Given the description of an element on the screen output the (x, y) to click on. 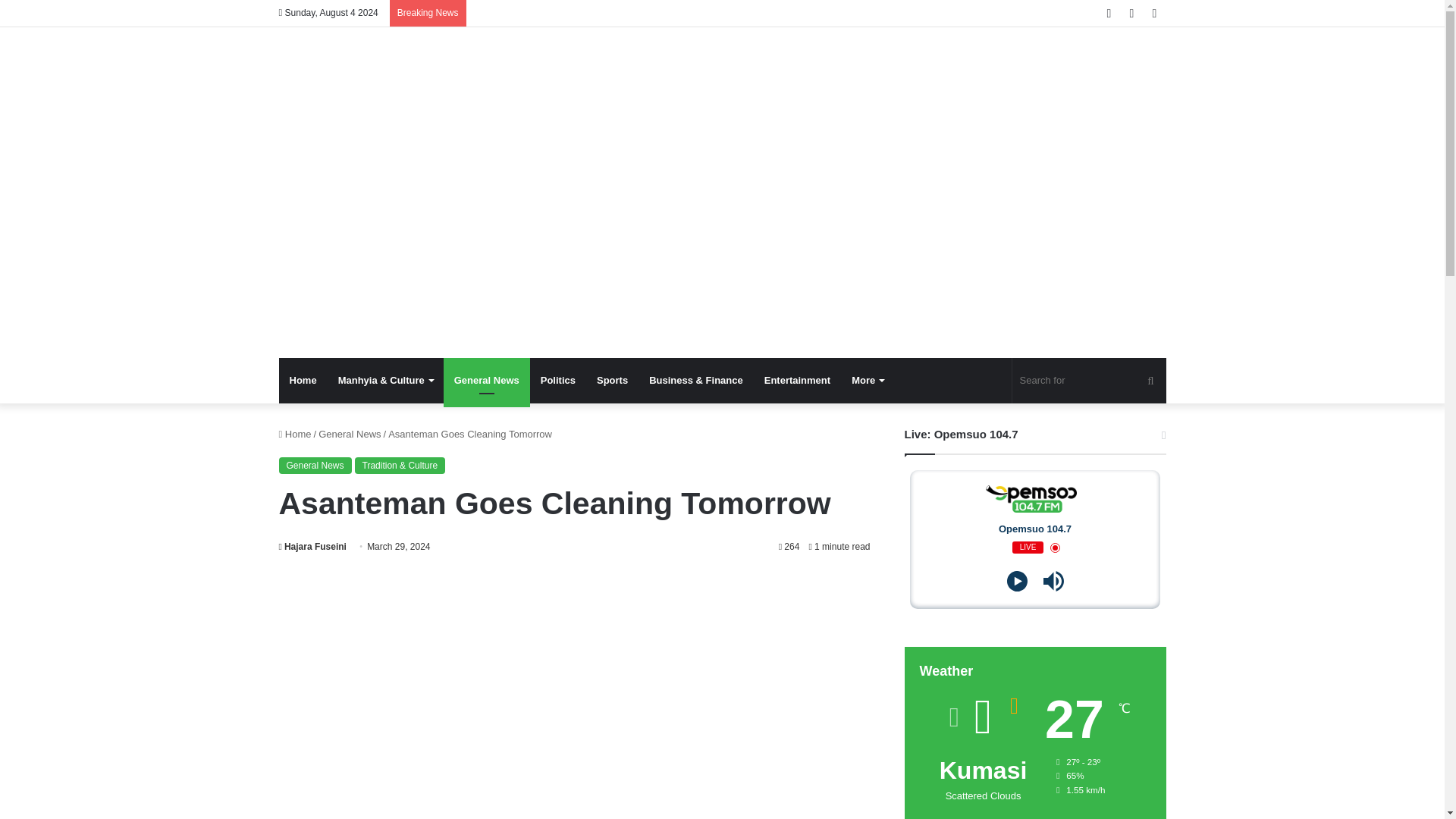
Search for (1088, 380)
Sidebar (1154, 13)
Home (295, 433)
Opemsuo 104.7 (281, 65)
Sports (612, 380)
General News (315, 465)
Entertainment (797, 380)
Home (303, 380)
Random Article (1131, 13)
Random Article (1131, 13)
Search for (1150, 380)
Hajara Fuseini (312, 546)
General News (349, 433)
Politics (557, 380)
Hajara Fuseini (312, 546)
